Given the description of an element on the screen output the (x, y) to click on. 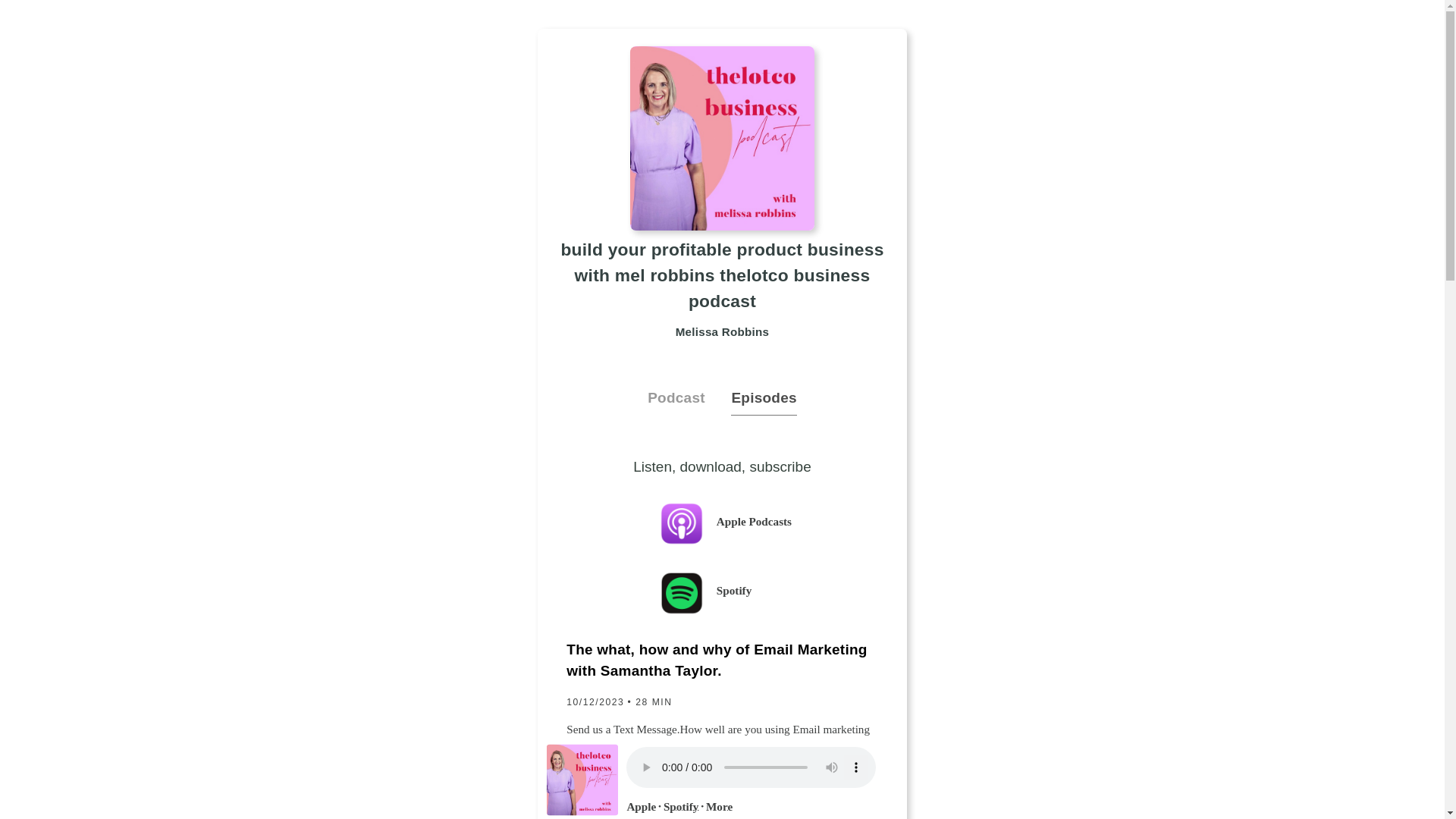
Listen on iOS and Android - Spotify Podcasts (768, 593)
Spotify (768, 593)
Listen on iOS - Apple Podcasts (768, 524)
Podcast (688, 398)
Apple Podcasts (768, 524)
